Given the description of an element on the screen output the (x, y) to click on. 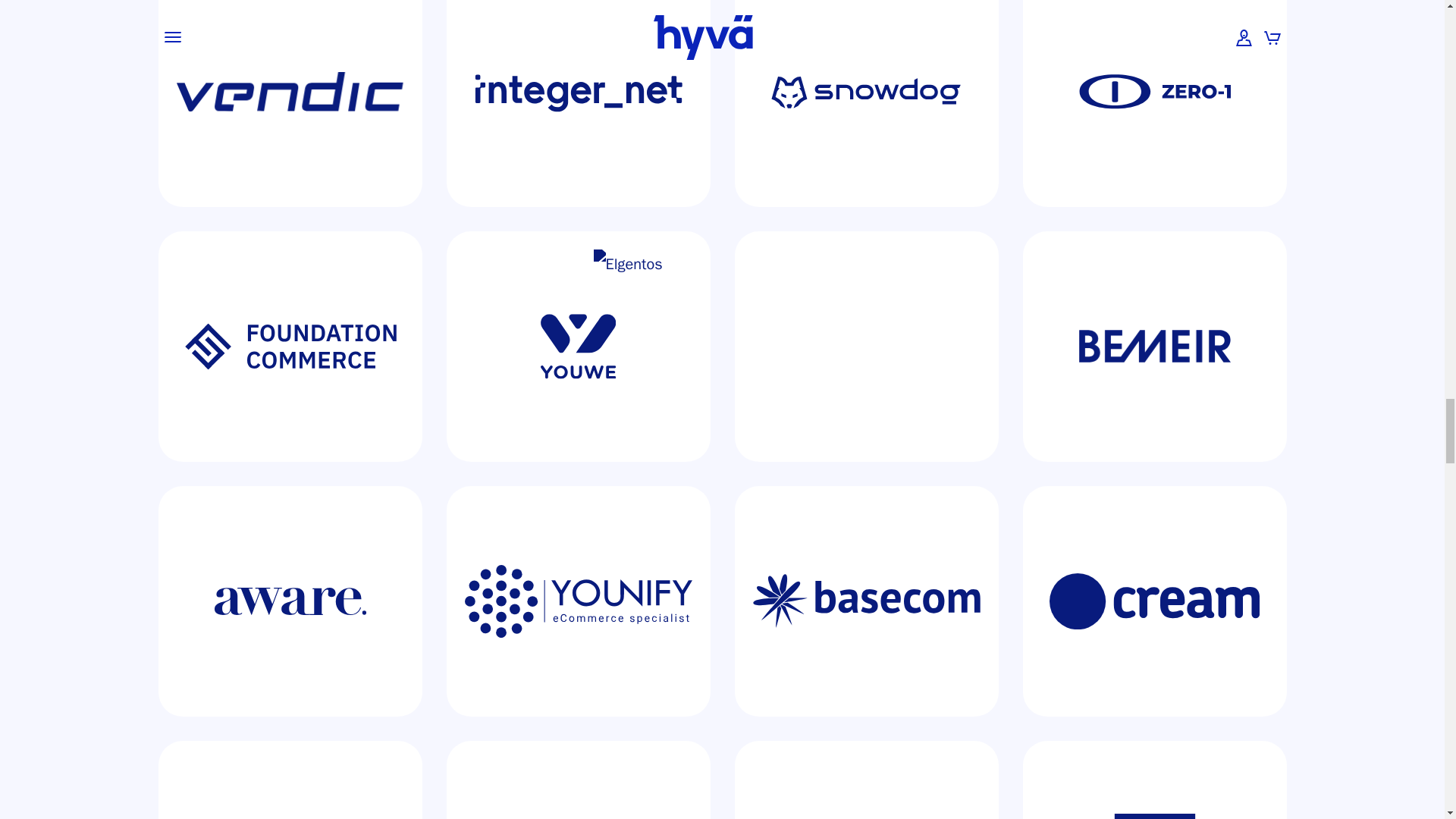
Elgentos  (865, 345)
basecom (865, 601)
Youwe (577, 345)
ZERO-1 (1153, 103)
Aware Digital (289, 601)
Snowdog (865, 103)
Younify (577, 601)
Foundation Commerce (289, 345)
Vendic (289, 103)
Bemeir (1153, 345)
